Given the description of an element on the screen output the (x, y) to click on. 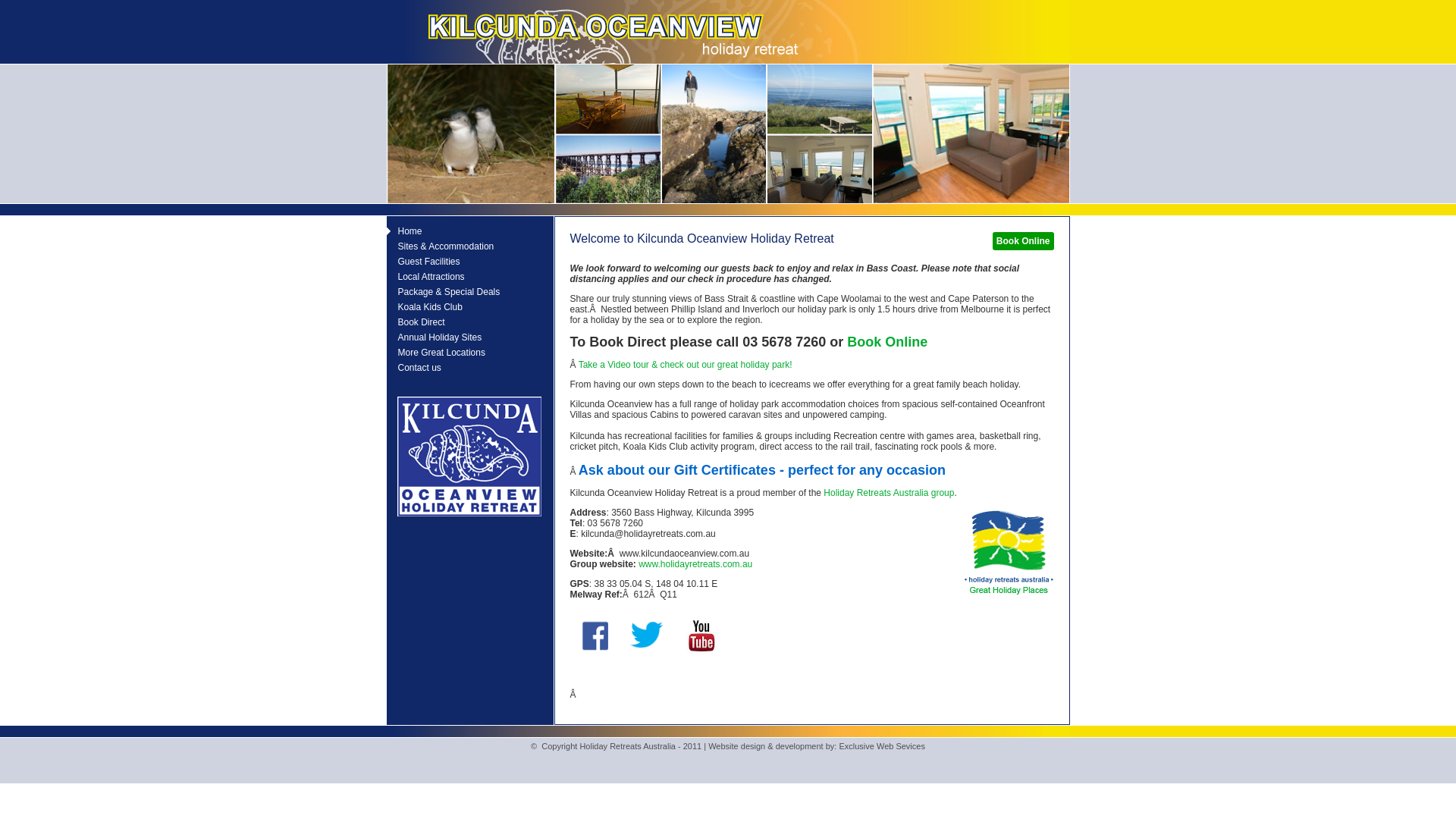
Take a Video tour & check out our great holiday park! Element type: text (685, 364)
Local Attractions Element type: text (425, 276)
Contact us Element type: text (413, 367)
p Element type: text (951, 492)
Twitter Element type: hover (646, 634)
grou Element type: text (938, 492)
Sites & Accommodation Element type: text (440, 246)
Annual Holiday Sites Element type: text (434, 337)
Home Element type: text (404, 230)
Book Direct Element type: text (415, 321)
Website design & development Element type: text (765, 745)
Holiday Retreats Australia Element type: text (875, 492)
Package & Special Deals Element type: text (443, 291)
Book Online Element type: text (1023, 241)
Guest Facilities Element type: text (423, 261)
U_Tube Element type: hover (702, 635)
More Great Locations Element type: text (435, 352)
Facebook Element type: hover (595, 635)
holiday_logo Element type: hover (1009, 552)
www.holidayretreats.com.au Element type: text (695, 563)
Book Online Element type: text (887, 341)
Koala Kids Club Element type: text (424, 306)
